Given the description of an element on the screen output the (x, y) to click on. 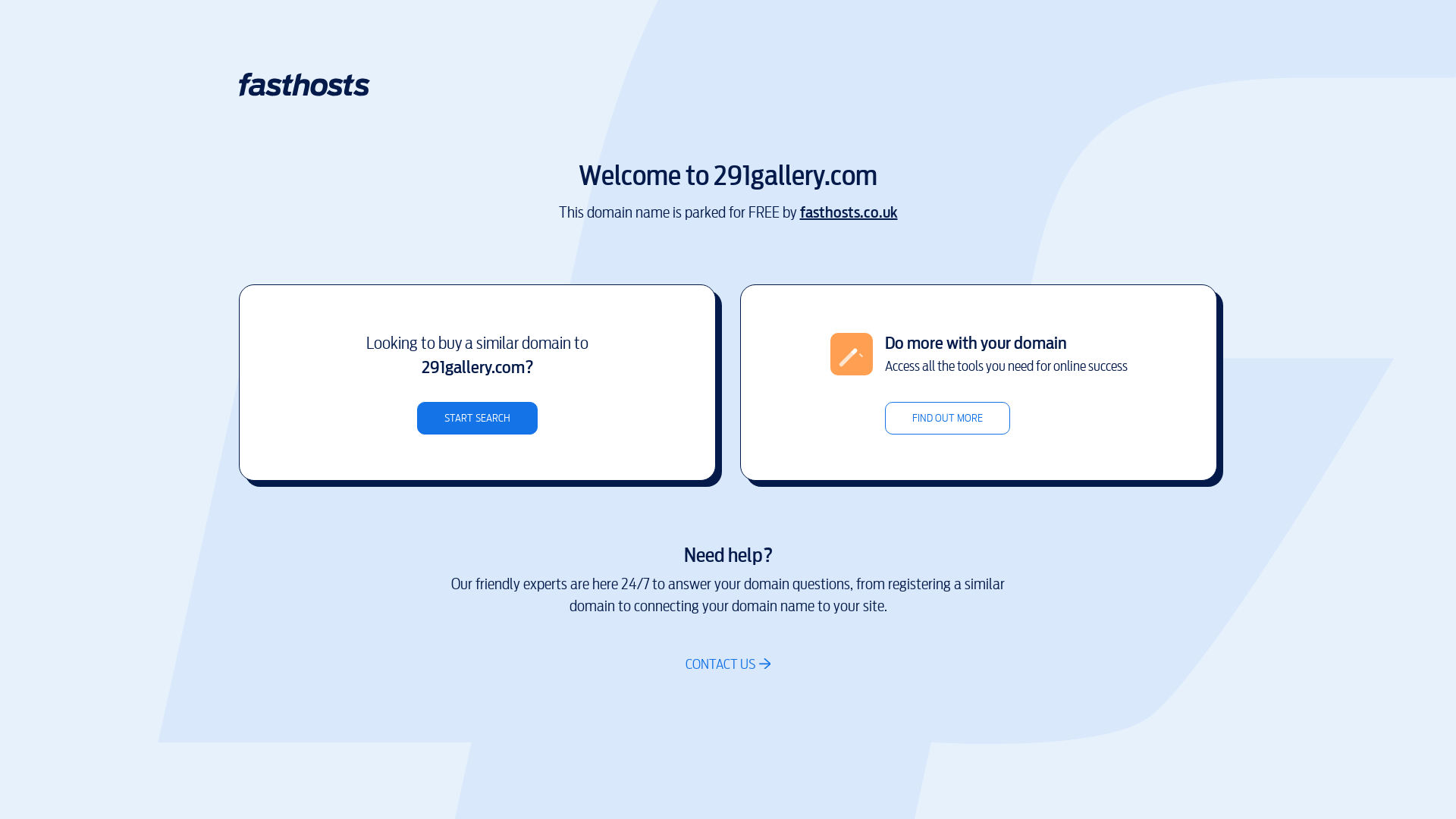
FIND OUT MORE Element type: text (946, 417)
CONTACT US Element type: text (727, 663)
START SEARCH Element type: text (477, 417)
fasthosts.co.uk Element type: text (848, 212)
